Given the description of an element on the screen output the (x, y) to click on. 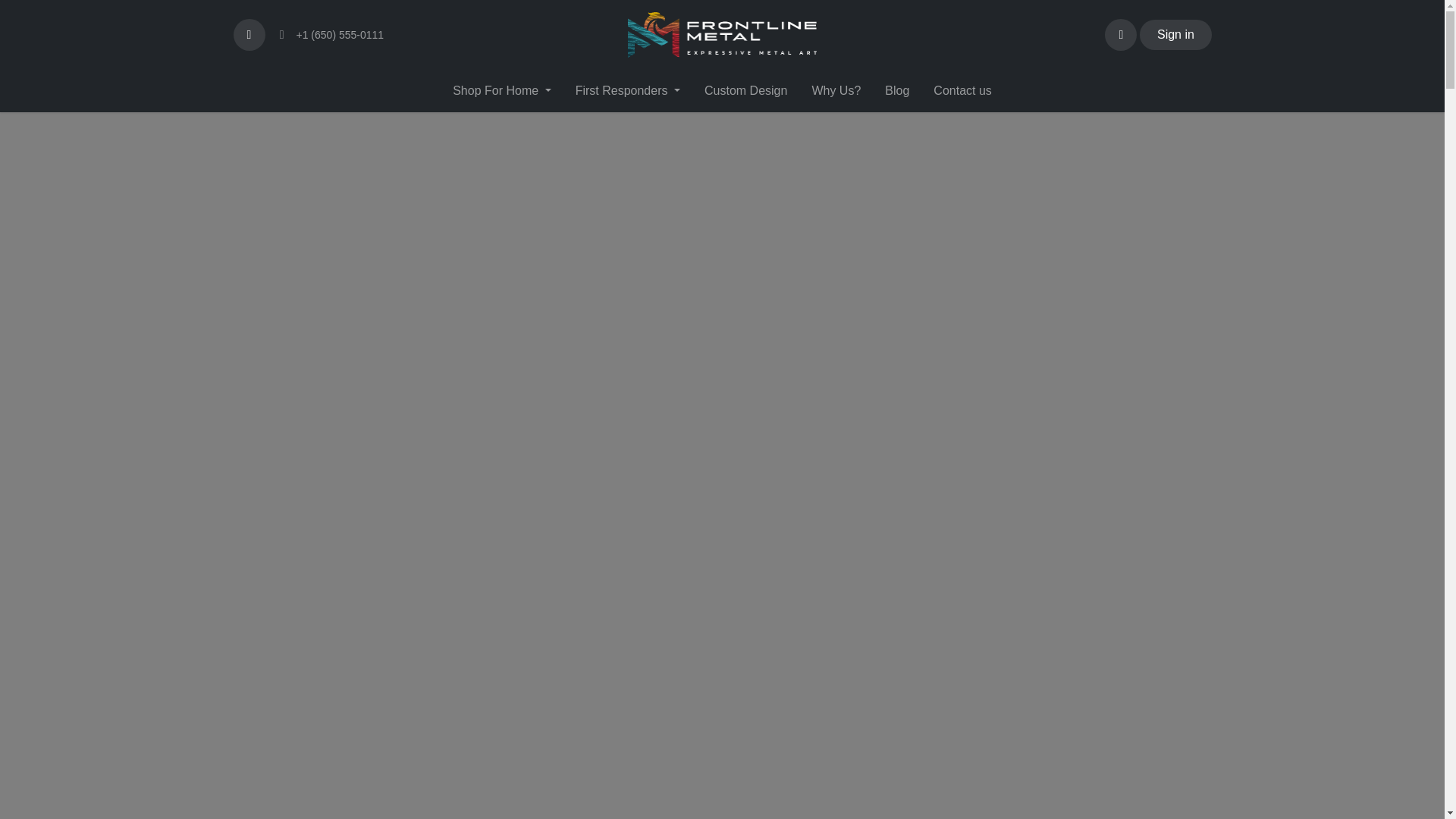
Why Us? (835, 90)
Contact us (962, 90)
First Responders (628, 90)
Custom Design (746, 90)
Search (248, 34)
Sign in (1175, 34)
Shop For Home (501, 90)
Frontline Metal (721, 34)
Blog (896, 90)
